Given the description of an element on the screen output the (x, y) to click on. 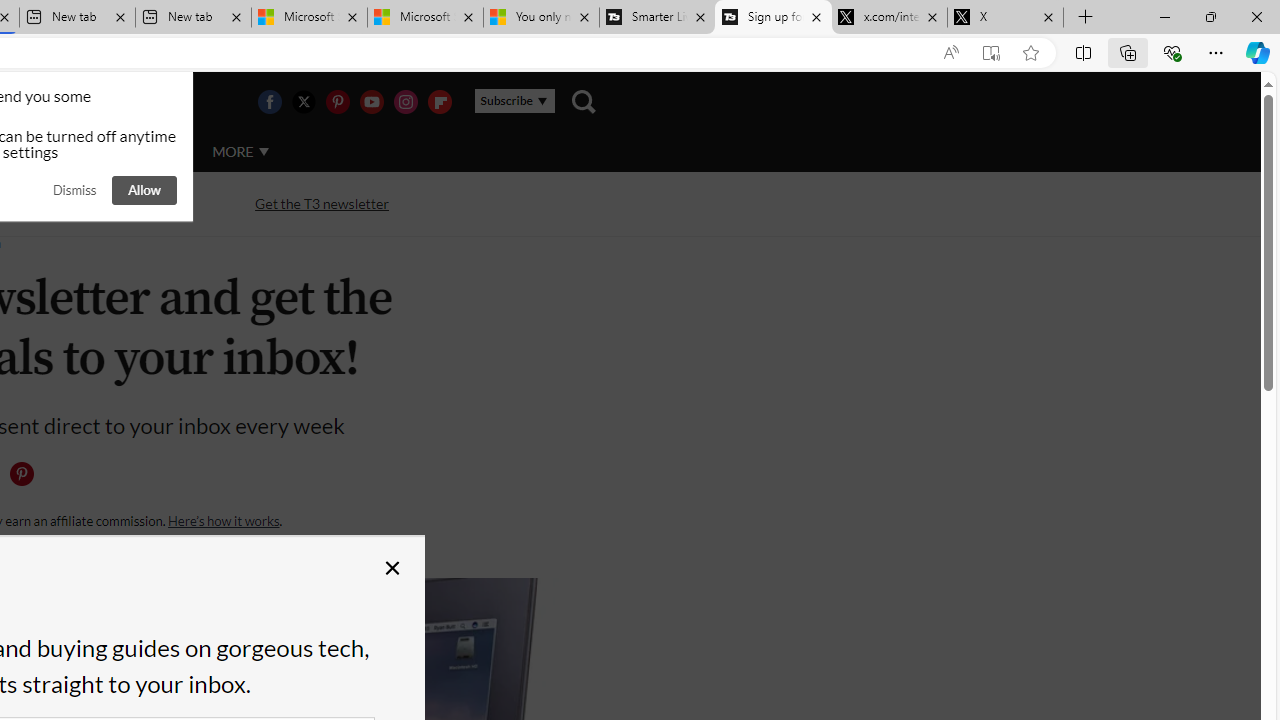
Visit us on Pintrest (337, 101)
flag of UK (44, 102)
Dismiss (73, 190)
Get the T3 newsletter (322, 204)
Enter Immersive Reader (F9) (991, 53)
Visit us on Instagram (405, 101)
AUTO (153, 151)
Share this page on Pintrest (21, 474)
